Given the description of an element on the screen output the (x, y) to click on. 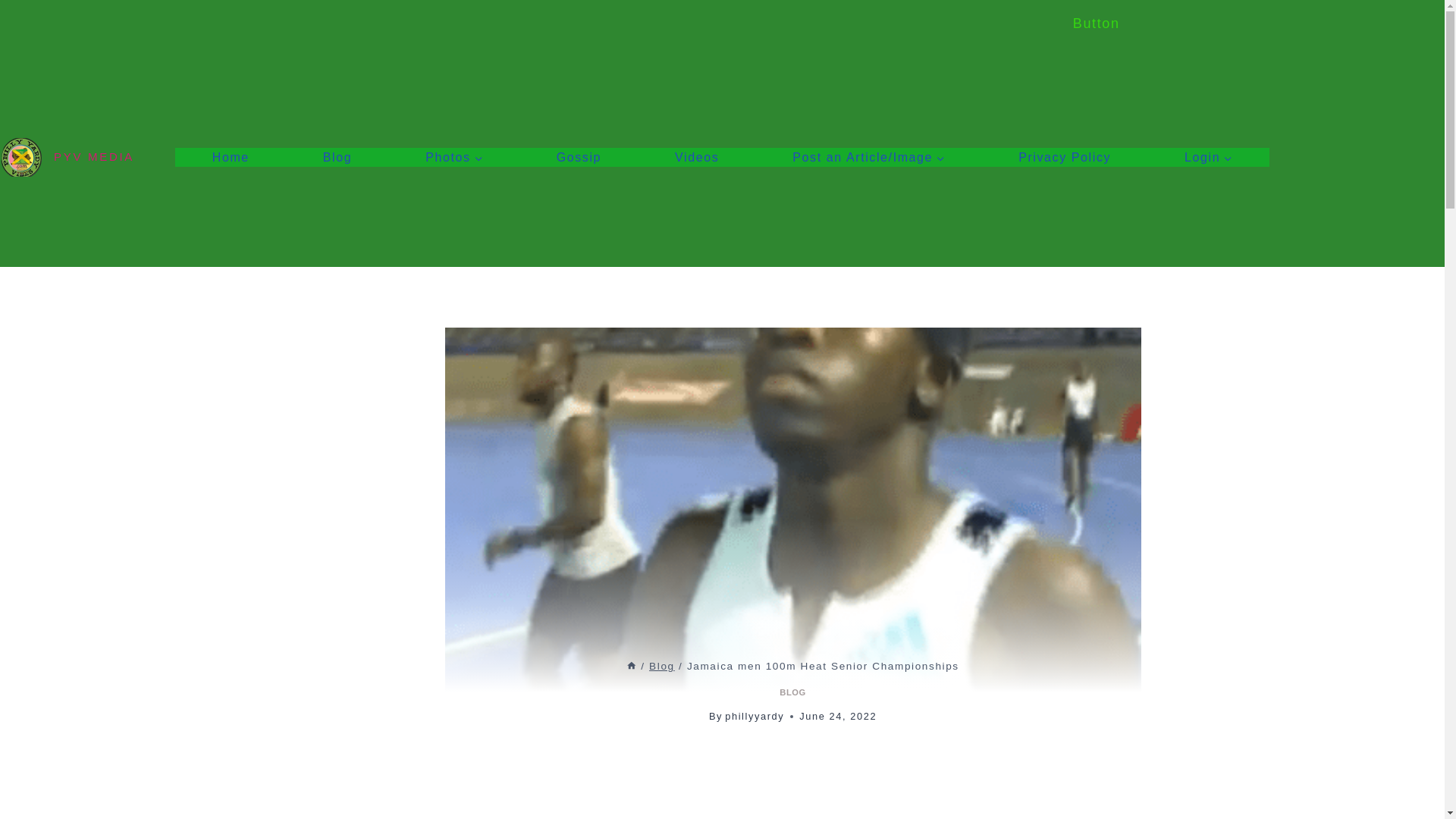
Photos (453, 157)
Login (1208, 157)
Button (1096, 23)
Blog (336, 157)
Home (631, 665)
Gossip (578, 157)
BLOG (792, 691)
Privacy Policy (1064, 157)
phillyyardy (754, 715)
Videos (697, 157)
PYV MEDIA (66, 157)
Blog (662, 665)
Home (229, 157)
